Given the description of an element on the screen output the (x, y) to click on. 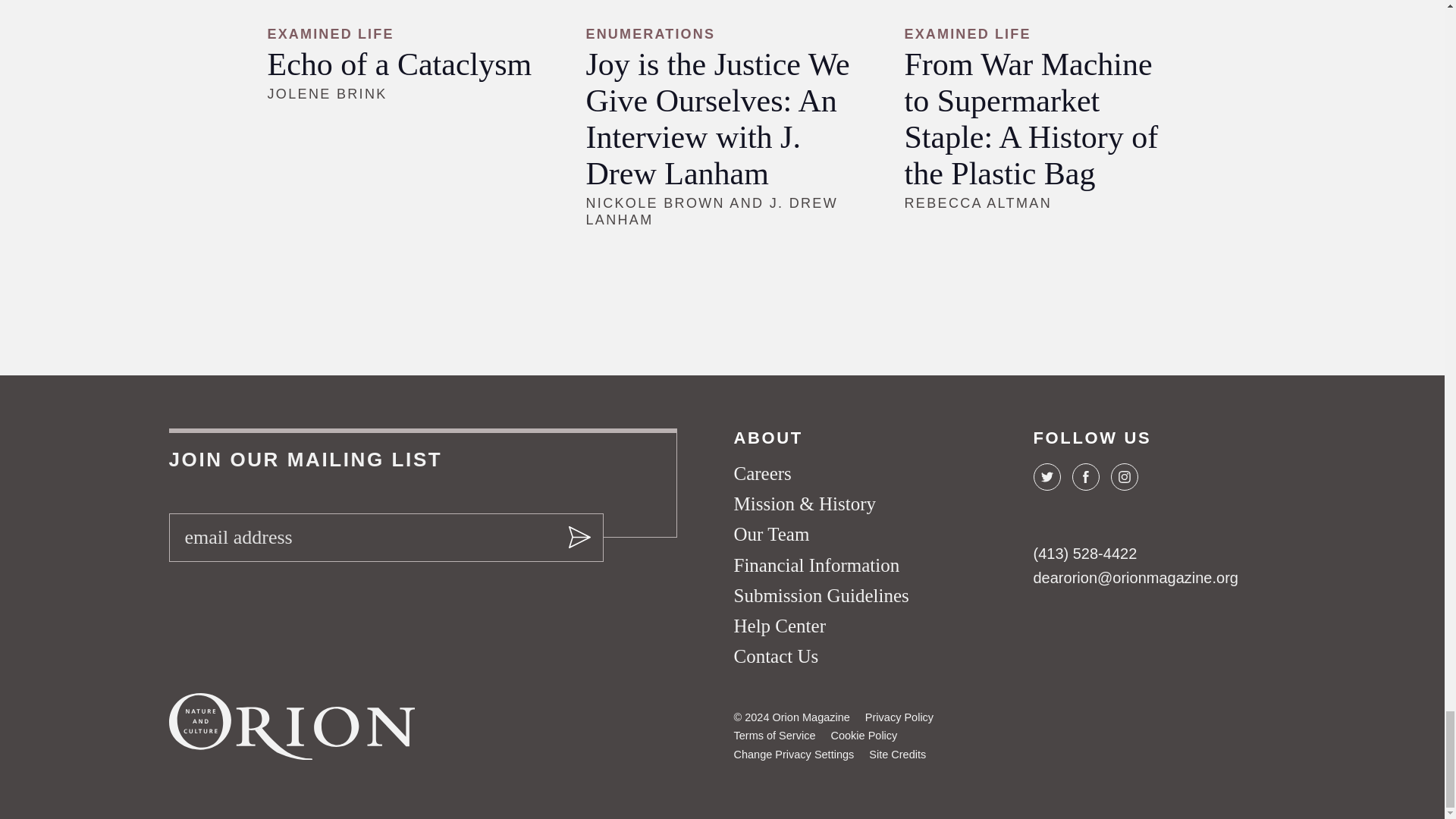
On Instagram (1123, 476)
On Twitter (1045, 476)
On Facebook (1085, 476)
